Given the description of an element on the screen output the (x, y) to click on. 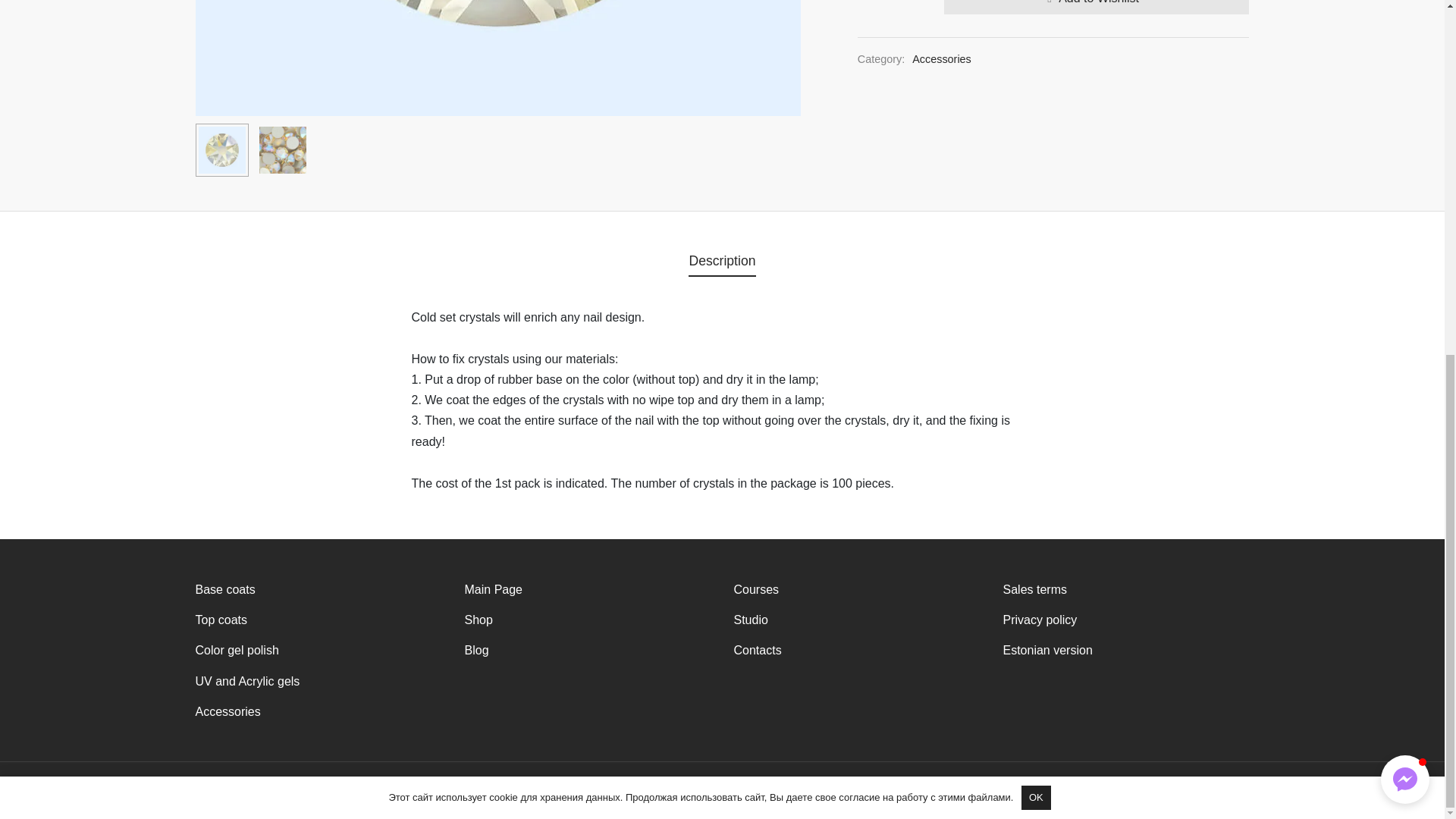
Base coats (225, 589)
Accessories (941, 59)
Studio (750, 619)
crystal.jpg (497, 58)
Sales terms (1034, 589)
Color gel polish (237, 650)
Shop (478, 619)
Main Page (493, 589)
Description (721, 260)
Courses (755, 589)
Contacts (757, 650)
Accessories (227, 712)
Scroll To Top (1413, 216)
Blog (475, 650)
Top coats (221, 619)
